Given the description of an element on the screen output the (x, y) to click on. 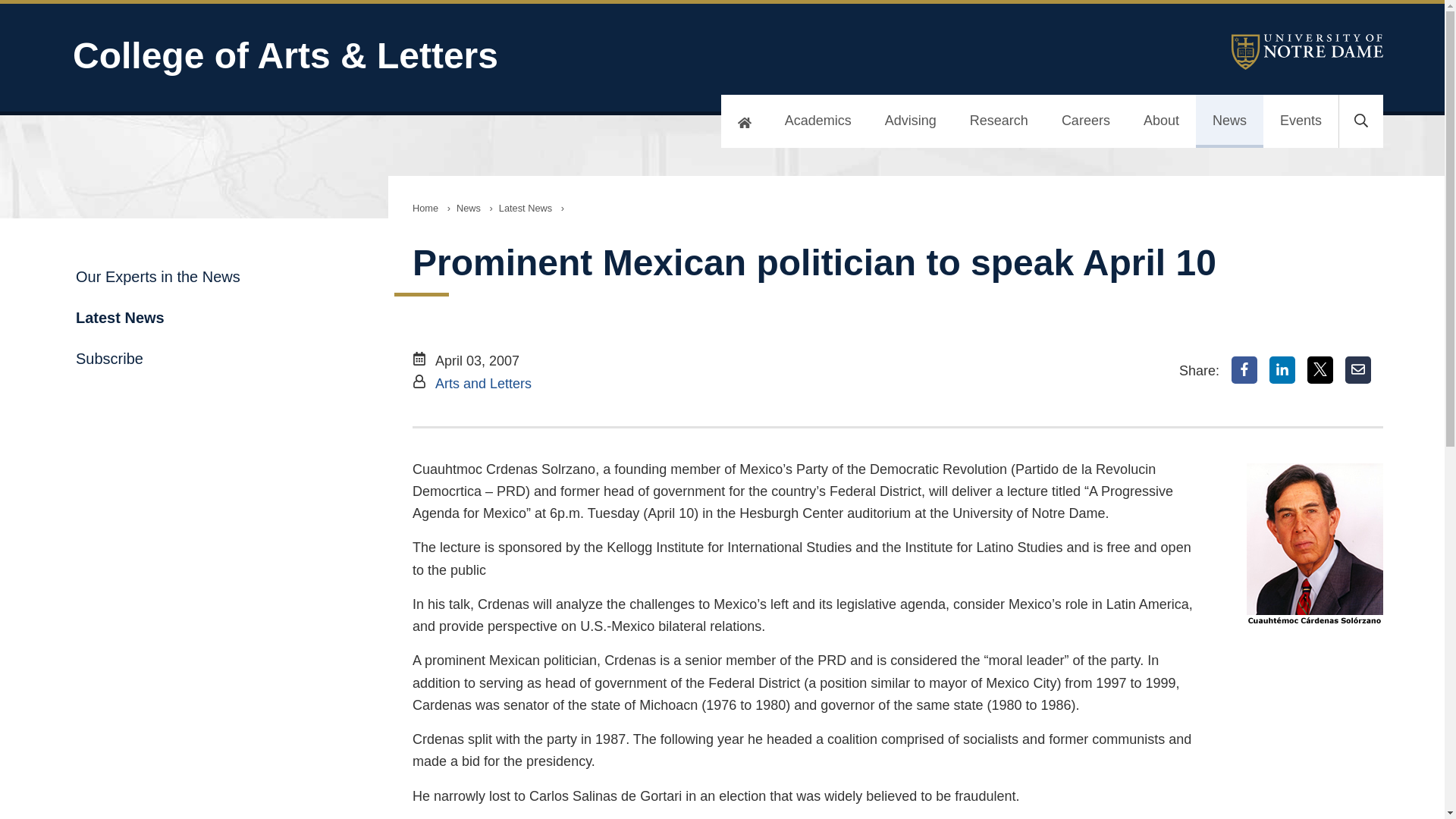
News (467, 207)
Academics (817, 121)
LinkedIn (1282, 370)
Email (1358, 370)
University of Notre Dame (1307, 51)
Careers (1085, 121)
Latest News (525, 207)
Research (999, 121)
Arts and Letters (483, 383)
About (1160, 121)
